Given the description of an element on the screen output the (x, y) to click on. 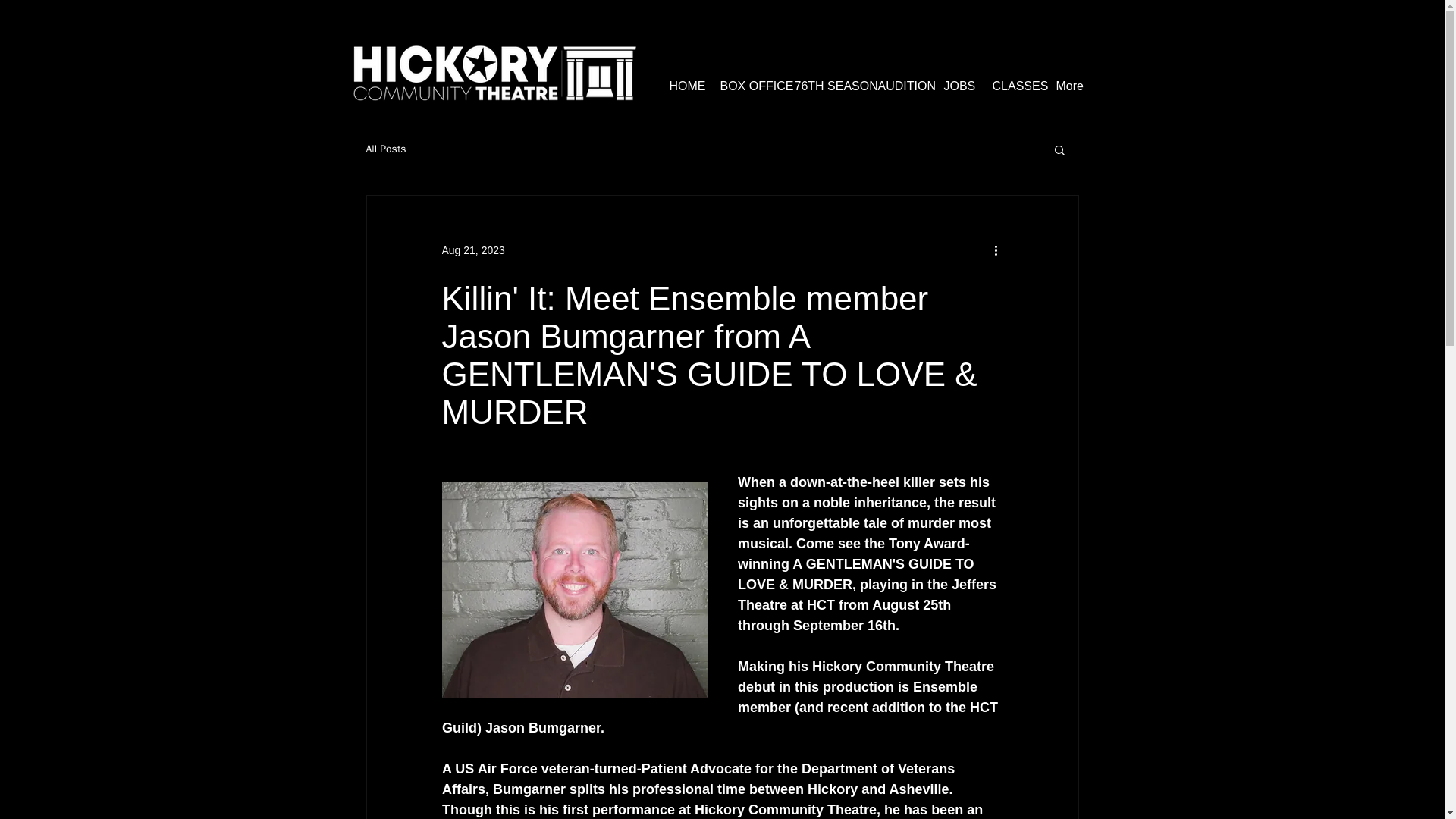
CLASSES (1013, 86)
BOX OFFICE (745, 86)
AUDITION (898, 86)
HOME (683, 86)
76TH SEASON (824, 86)
Aug 21, 2023 (472, 250)
JOBS (957, 86)
All Posts (385, 149)
